Given the description of an element on the screen output the (x, y) to click on. 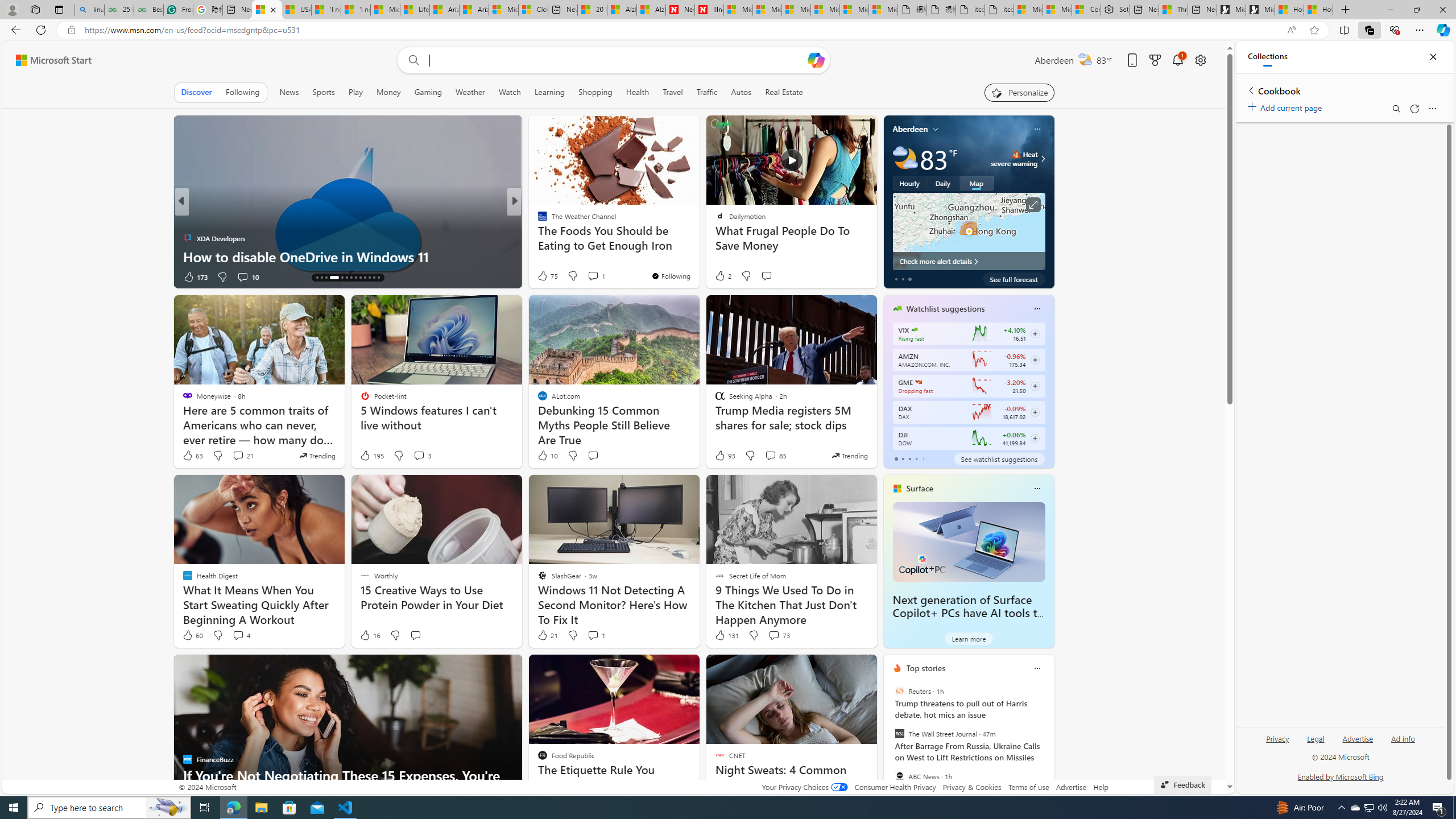
View comments 40 Comment (588, 276)
GAMESTOP CORP. (919, 381)
tab-1 (903, 458)
AutomationID: tab-24 (368, 277)
